Given the description of an element on the screen output the (x, y) to click on. 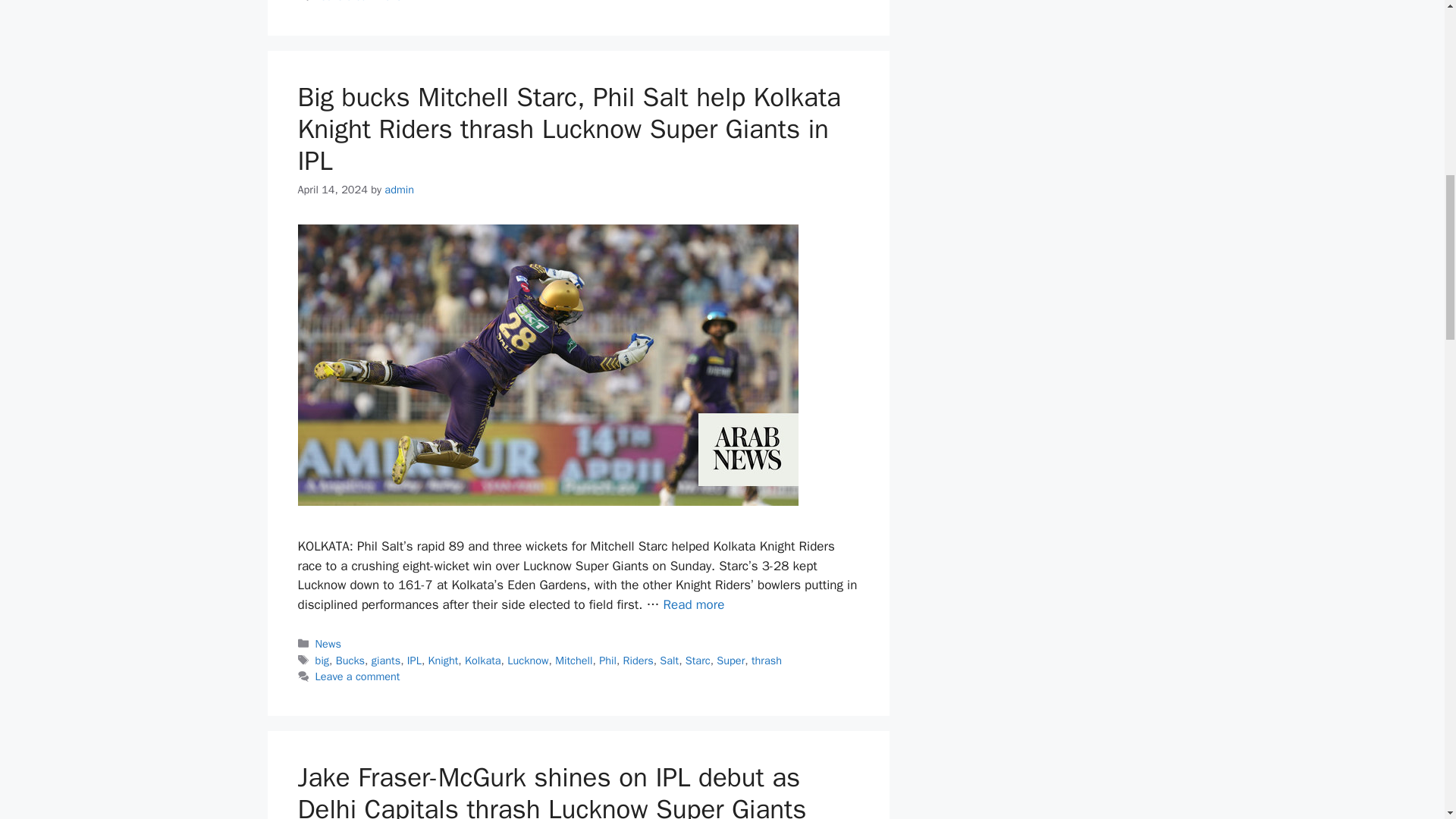
IPL (414, 660)
Kolkata (482, 660)
Salt (668, 660)
giants (385, 660)
Leave a comment (357, 676)
View all posts by admin (398, 189)
Super (730, 660)
admin (398, 189)
big (322, 660)
Knight (443, 660)
